Given the description of an element on the screen output the (x, y) to click on. 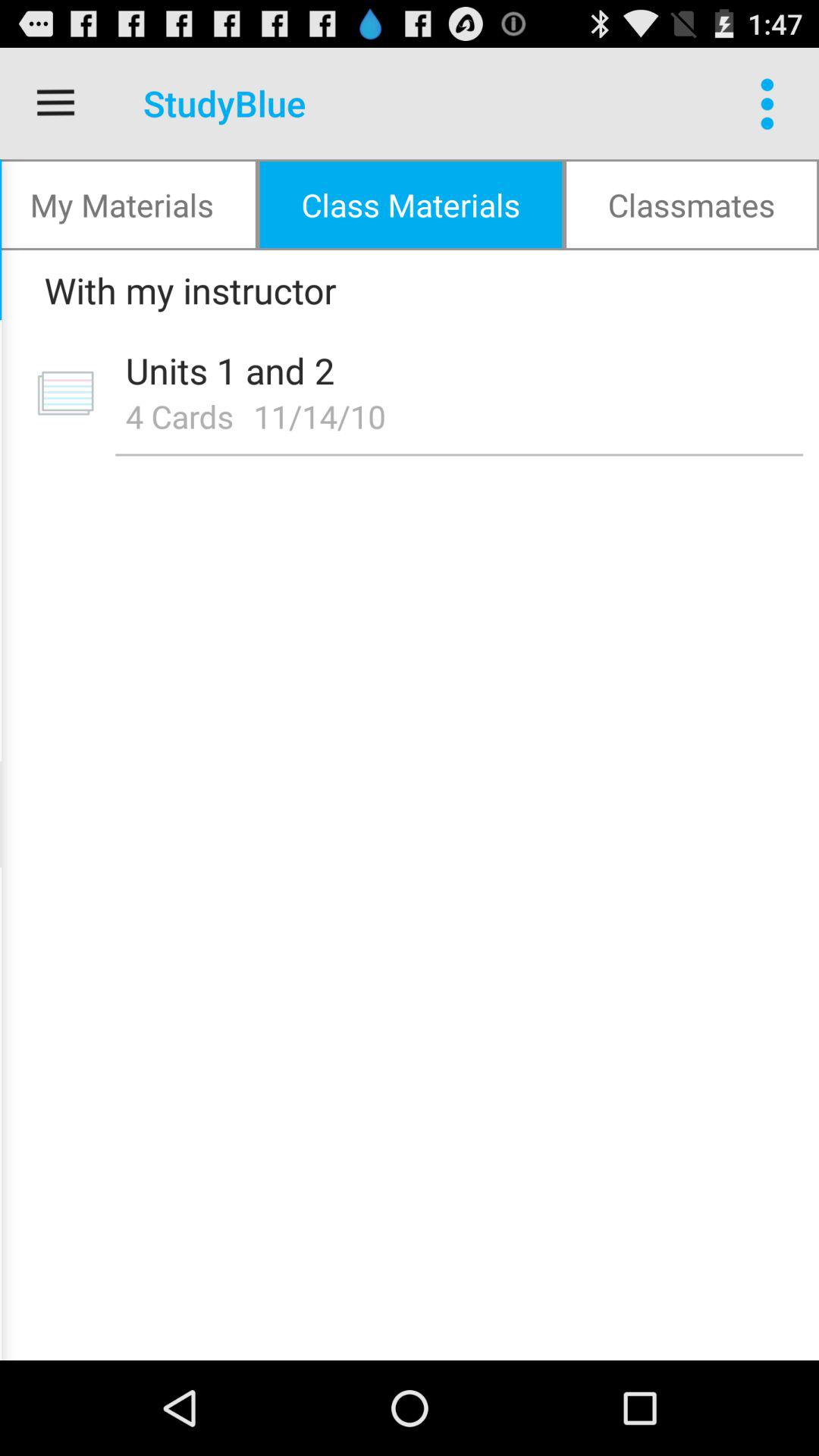
swipe to the 4 cards icon (179, 415)
